Given the description of an element on the screen output the (x, y) to click on. 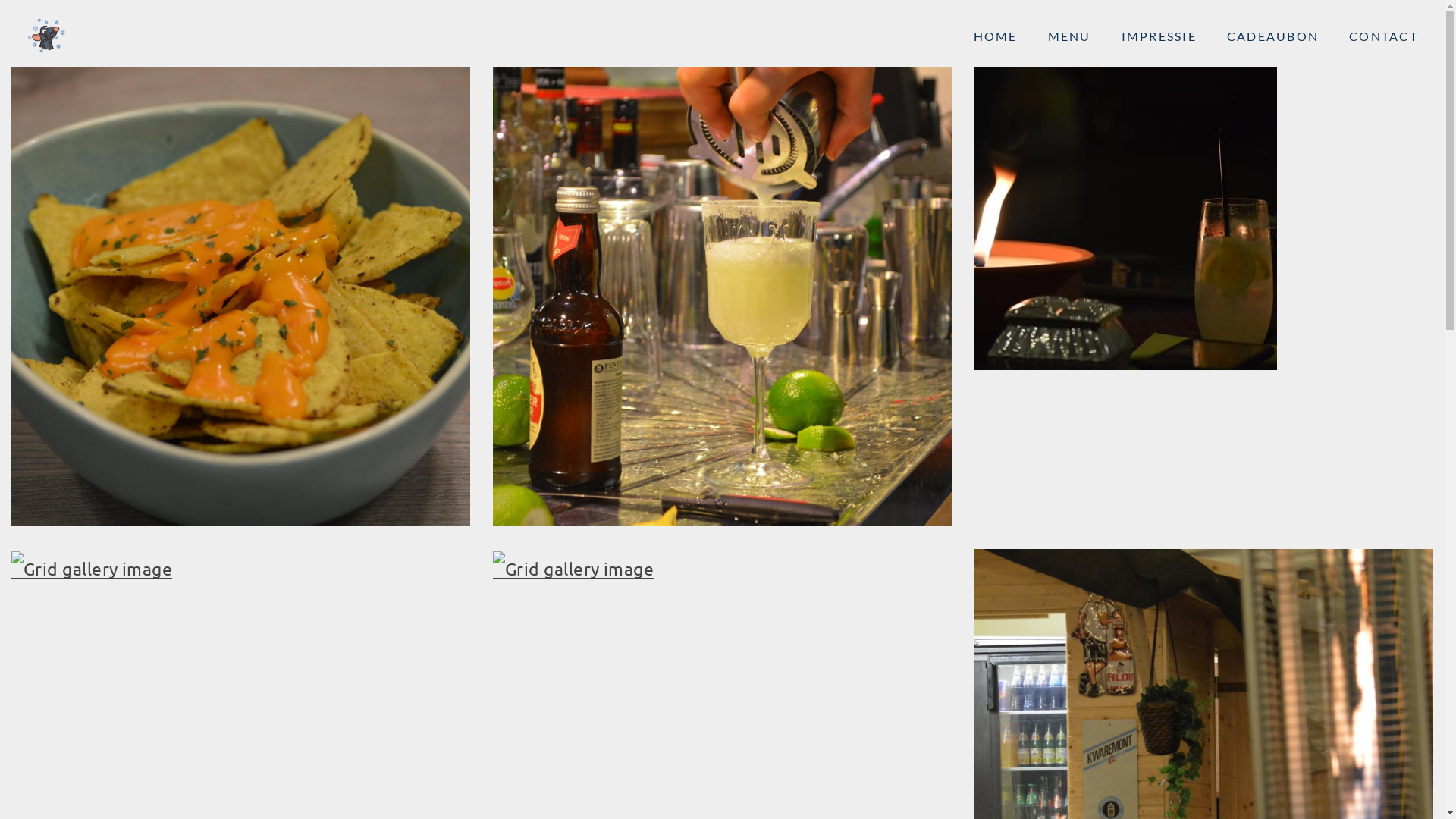
MENU Element type: text (1069, 35)
CONTACT Element type: text (1383, 35)
CADEAUBON Element type: text (1272, 35)
IMPRESSIE Element type: text (1158, 35)
HOME Element type: text (995, 35)
